Given the description of an element on the screen output the (x, y) to click on. 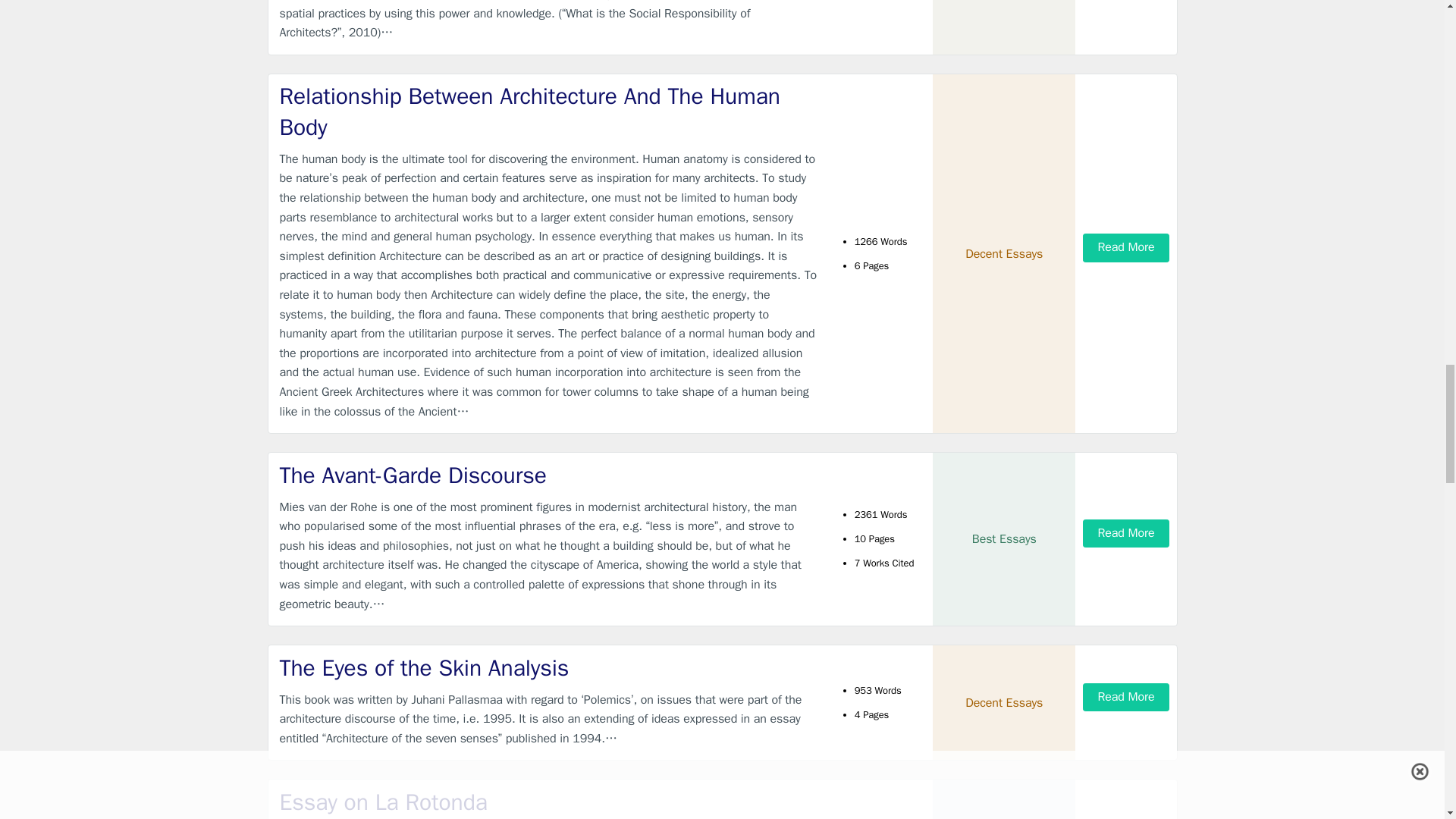
The Avant-Garde Discourse (548, 475)
Relationship Between Architecture And The Human Body (548, 111)
Read More (1126, 533)
Read More (1126, 247)
